Given the description of an element on the screen output the (x, y) to click on. 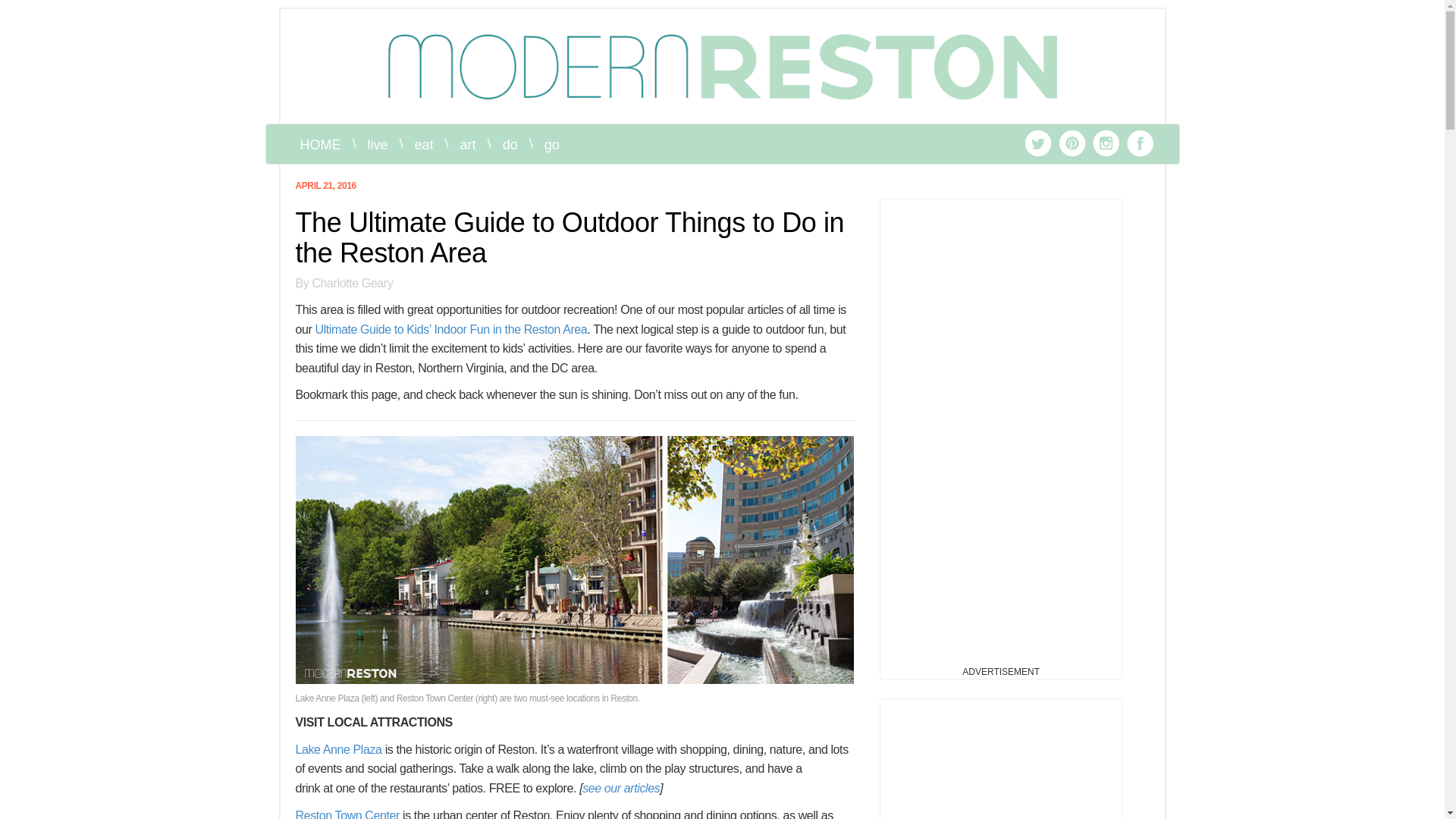
art (467, 144)
eat (424, 144)
HOME (320, 144)
Advertisement (1000, 762)
live (377, 144)
do (510, 144)
